Given the description of an element on the screen output the (x, y) to click on. 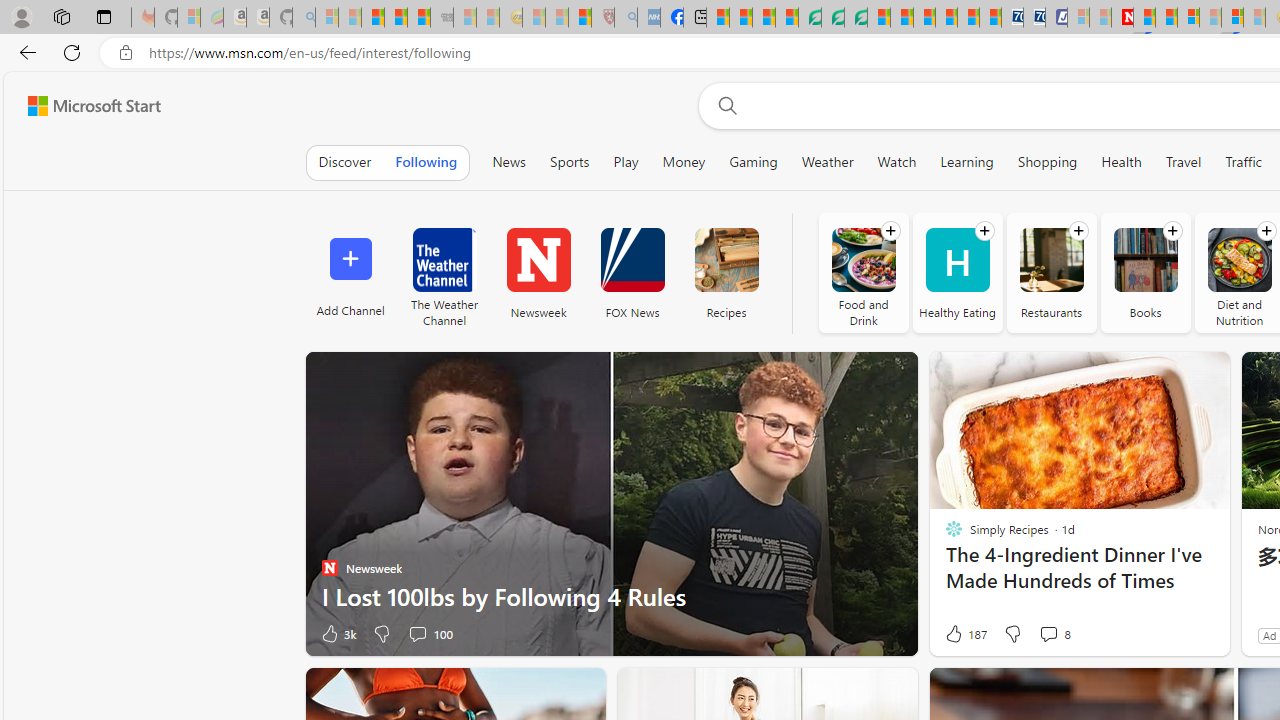
187 Like (964, 633)
The Weather Channel (444, 260)
Newsweek (537, 260)
Traffic (1243, 162)
LendingTree - Compare Lenders (809, 17)
Learning (966, 161)
Local - MSN (580, 17)
